Given the description of an element on the screen output the (x, y) to click on. 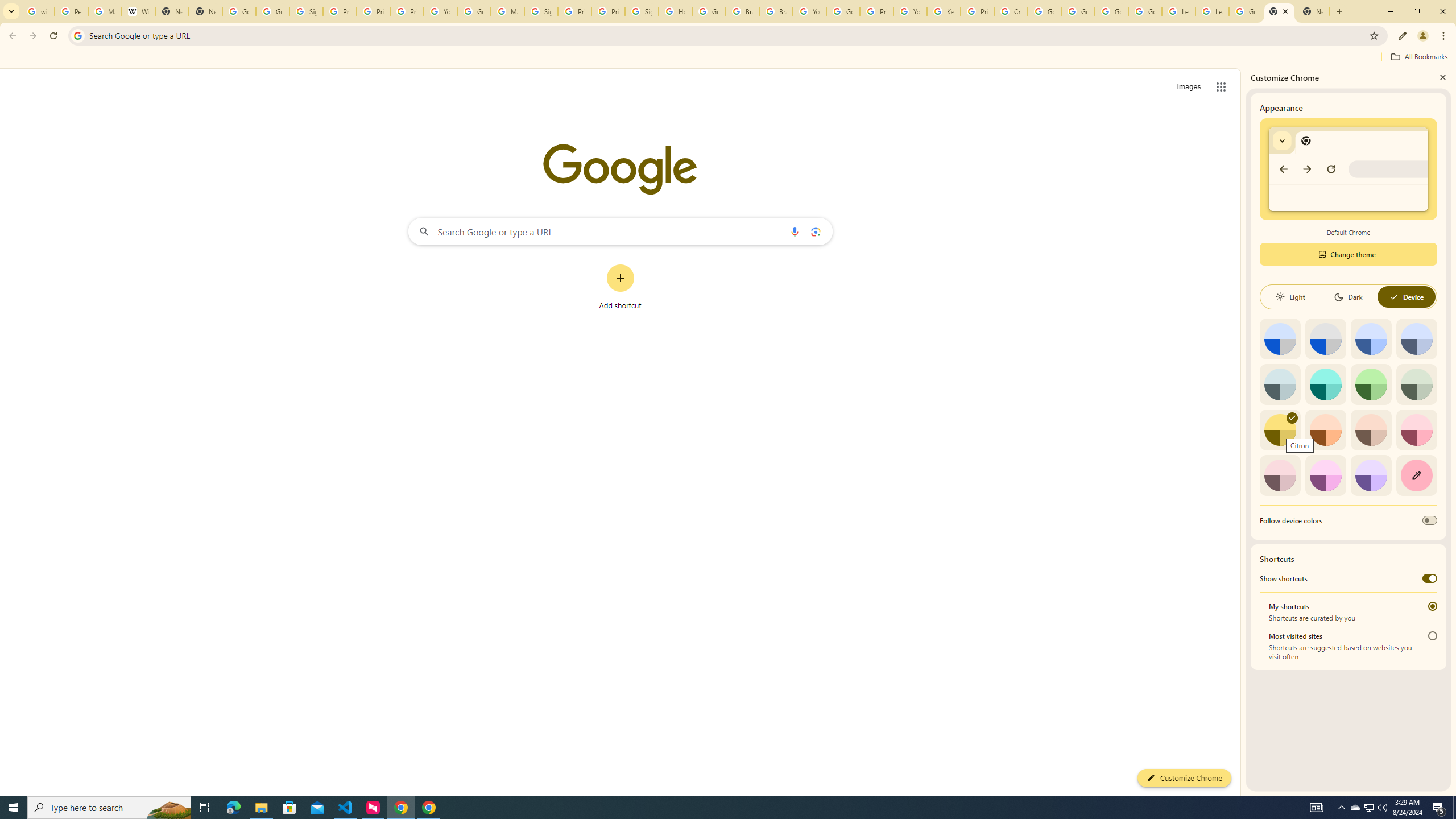
YouTube (441, 11)
My shortcuts (1432, 605)
Default Chrome (1348, 169)
Google Account Help (842, 11)
Blue (1371, 338)
Device (1406, 296)
Grey default color (1325, 338)
Personalization & Google Search results - Google Search Help (71, 11)
